Given the description of an element on the screen output the (x, y) to click on. 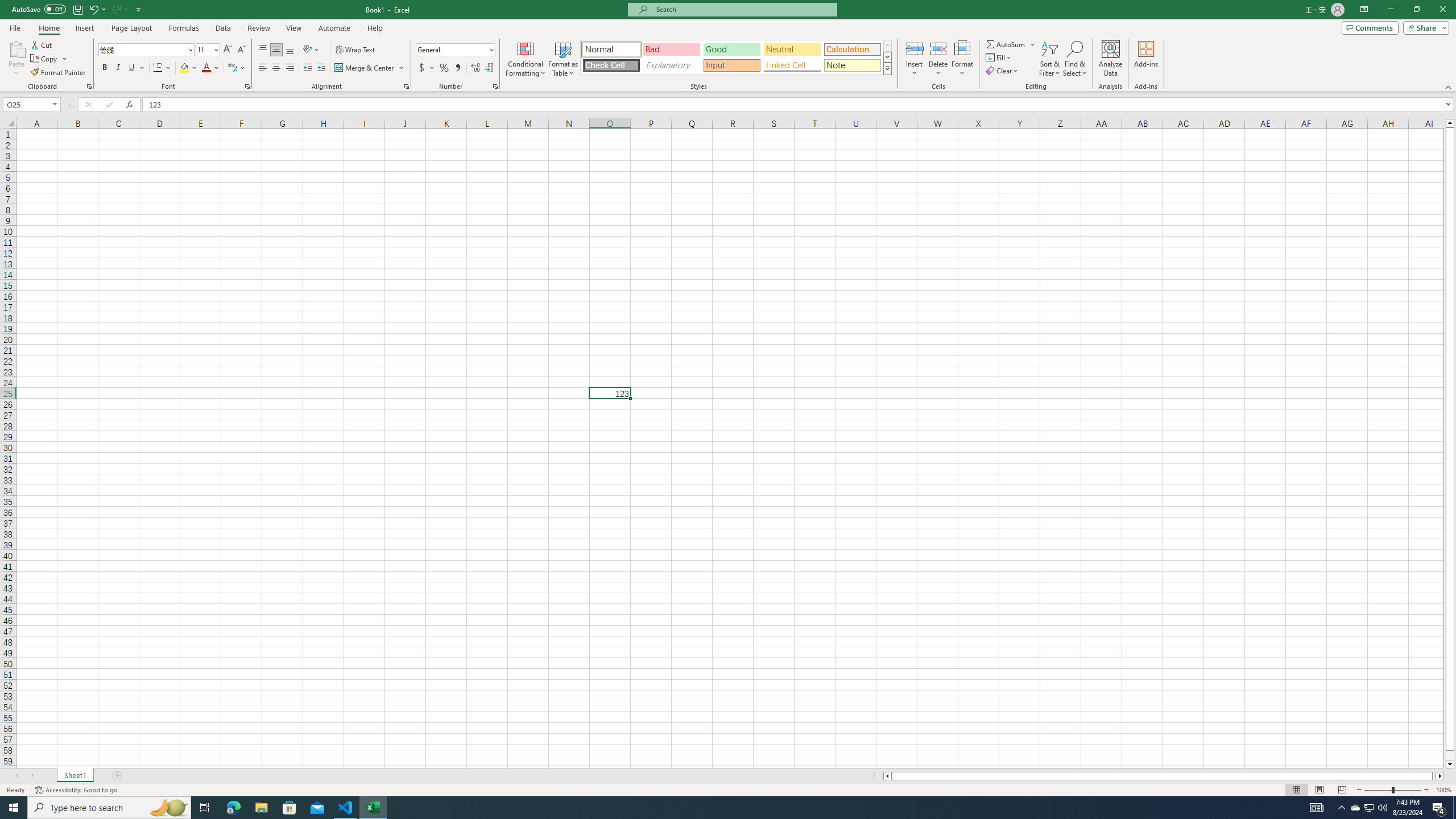
Share (1423, 27)
Fill Color (188, 67)
Open (54, 104)
Center (276, 67)
Font Size (204, 49)
Format Cell Font (247, 85)
Calculation (852, 49)
AutomationID: CellStylesGallery (736, 57)
Page down (1449, 755)
